Given the description of an element on the screen output the (x, y) to click on. 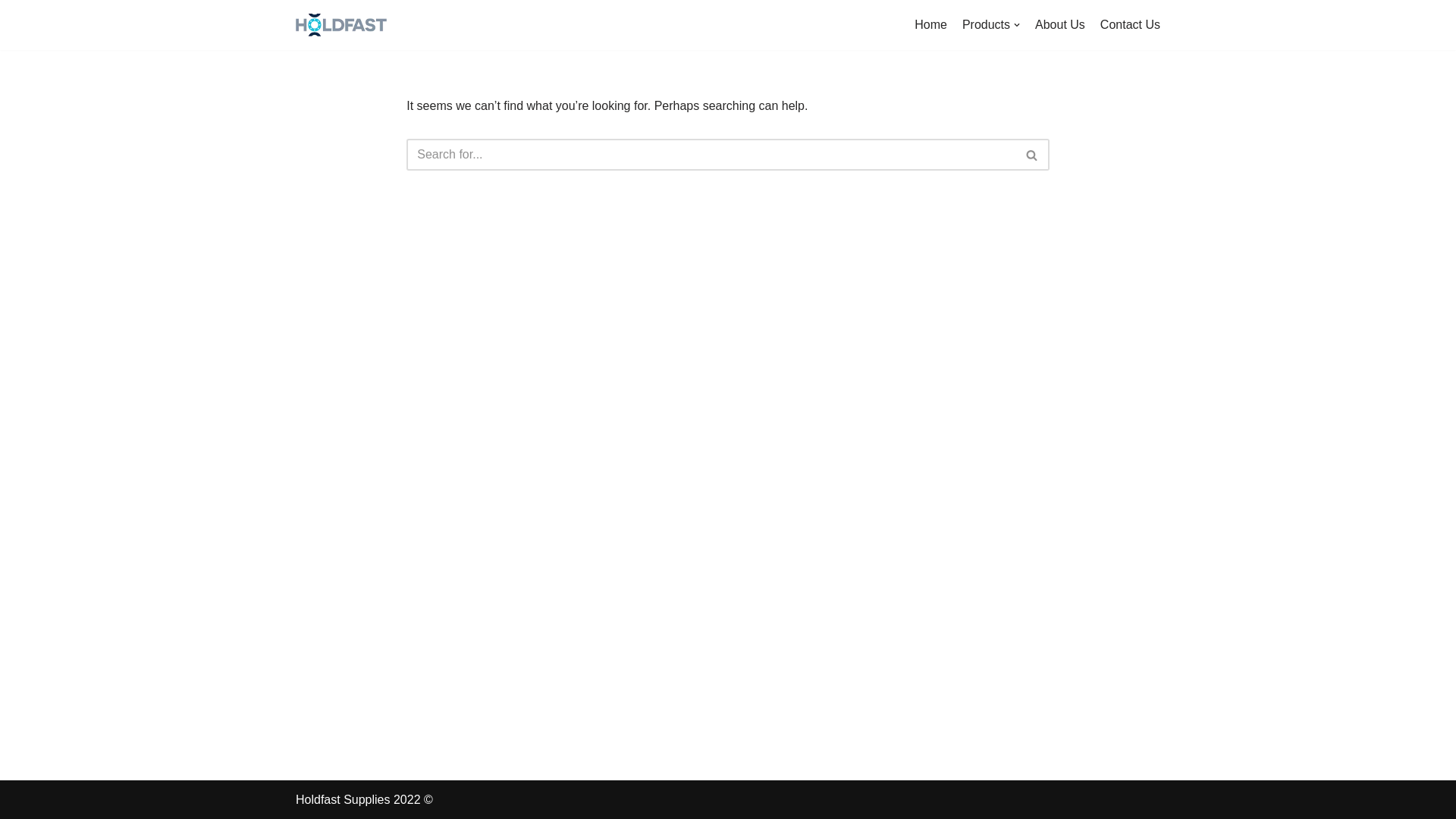
Skip to content Element type: text (11, 31)
Contact Us Element type: text (1130, 24)
Holdfast Supplies Element type: hover (340, 24)
Products Element type: text (990, 24)
Home Element type: text (930, 24)
About Us Element type: text (1060, 24)
